Given the description of an element on the screen output the (x, y) to click on. 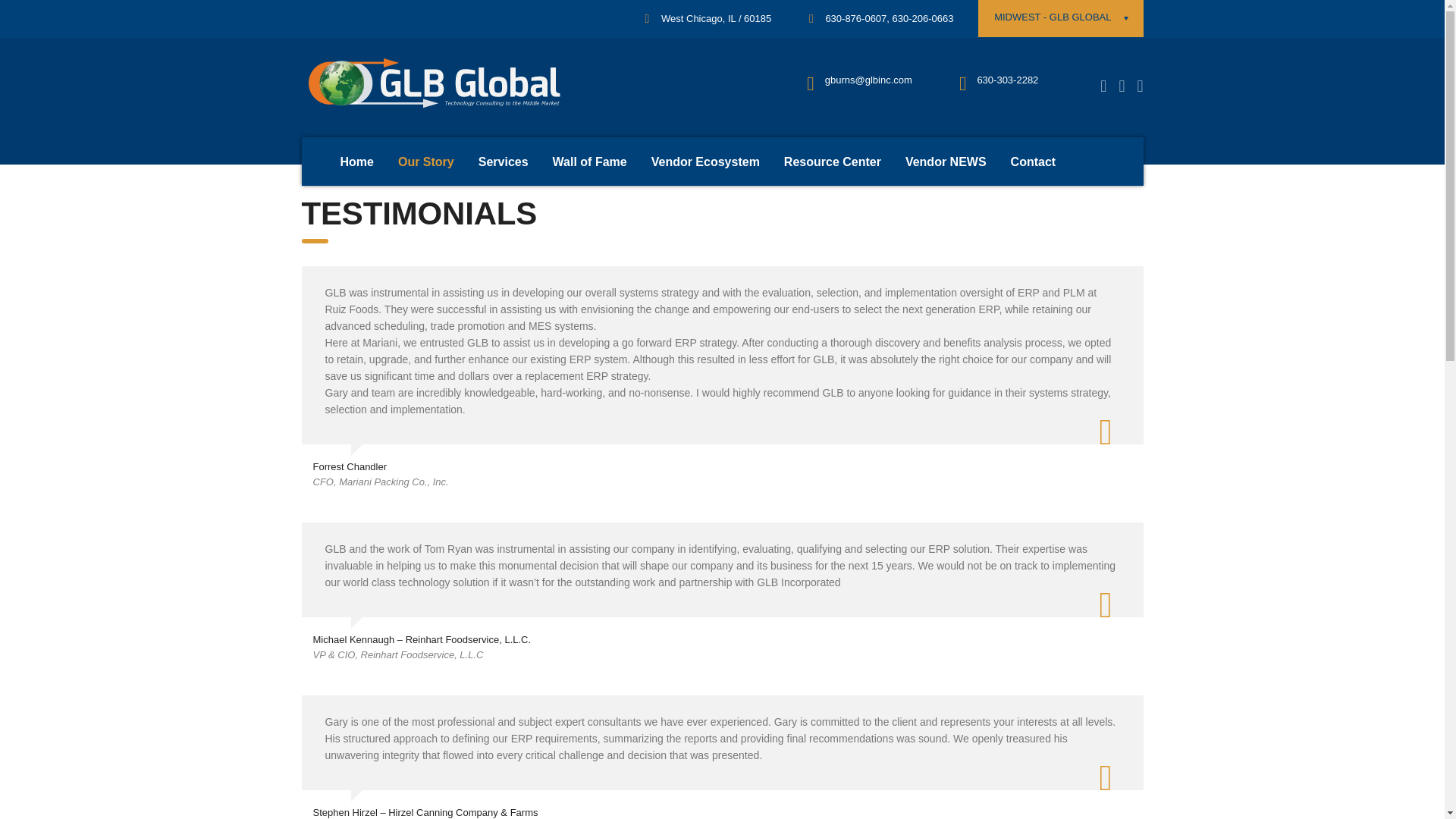
Contact (1033, 161)
Services (502, 161)
Our Story (425, 161)
Wall of Fame (589, 161)
Vendor NEWS (945, 161)
Resource Center (832, 161)
Vendor Ecosystem (705, 161)
Home (356, 161)
